Given the description of an element on the screen output the (x, y) to click on. 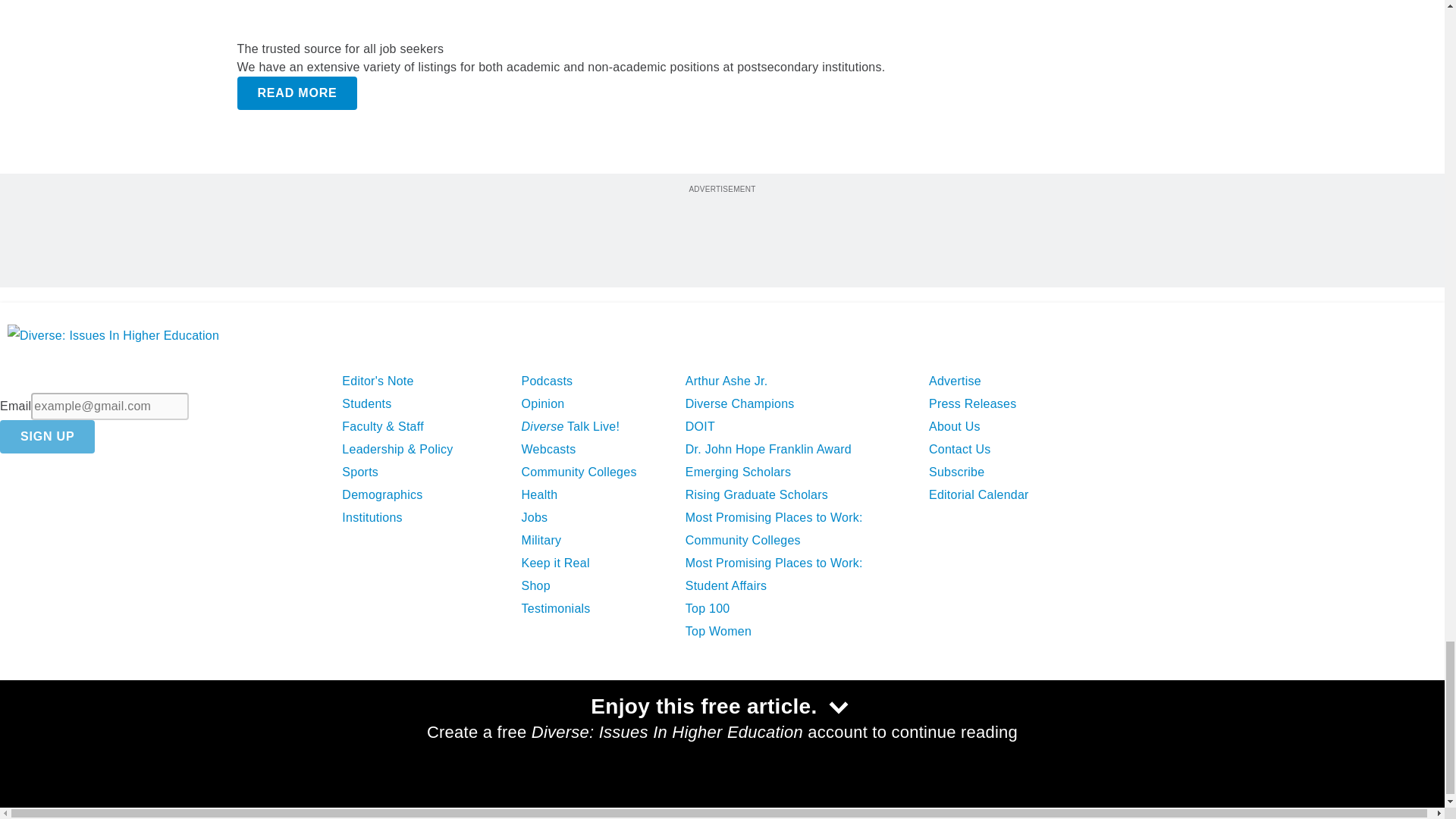
YouTube icon (141, 733)
Instagram icon (179, 733)
Facebook icon (20, 733)
LinkedIn icon (102, 733)
Twitter X icon (60, 733)
